Given the description of an element on the screen output the (x, y) to click on. 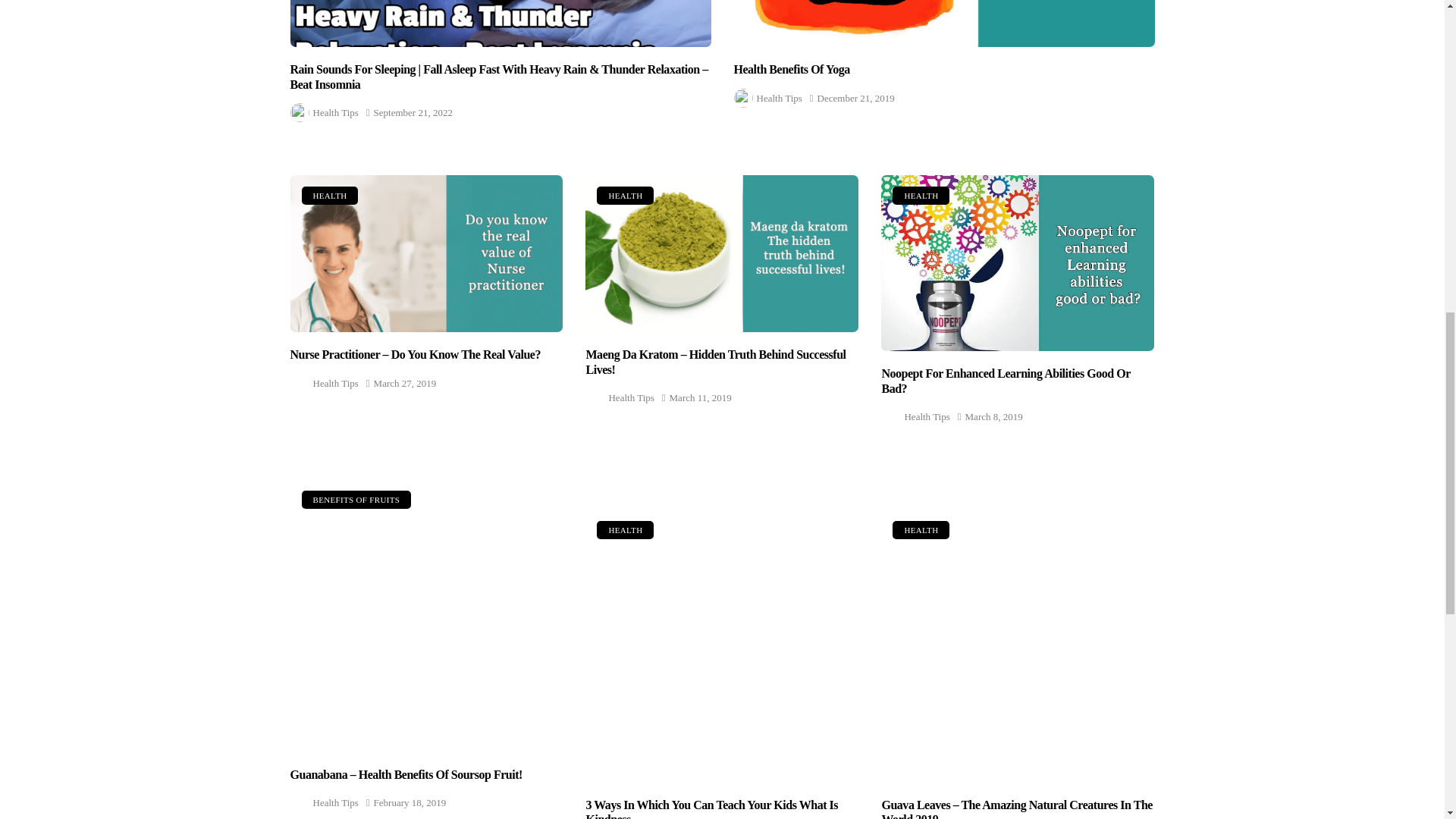
Posts by Health Tips (335, 112)
Posts by Health Tips (779, 97)
Health Tips (335, 112)
Health Benefits of Yoga (943, 23)
